Given the description of an element on the screen output the (x, y) to click on. 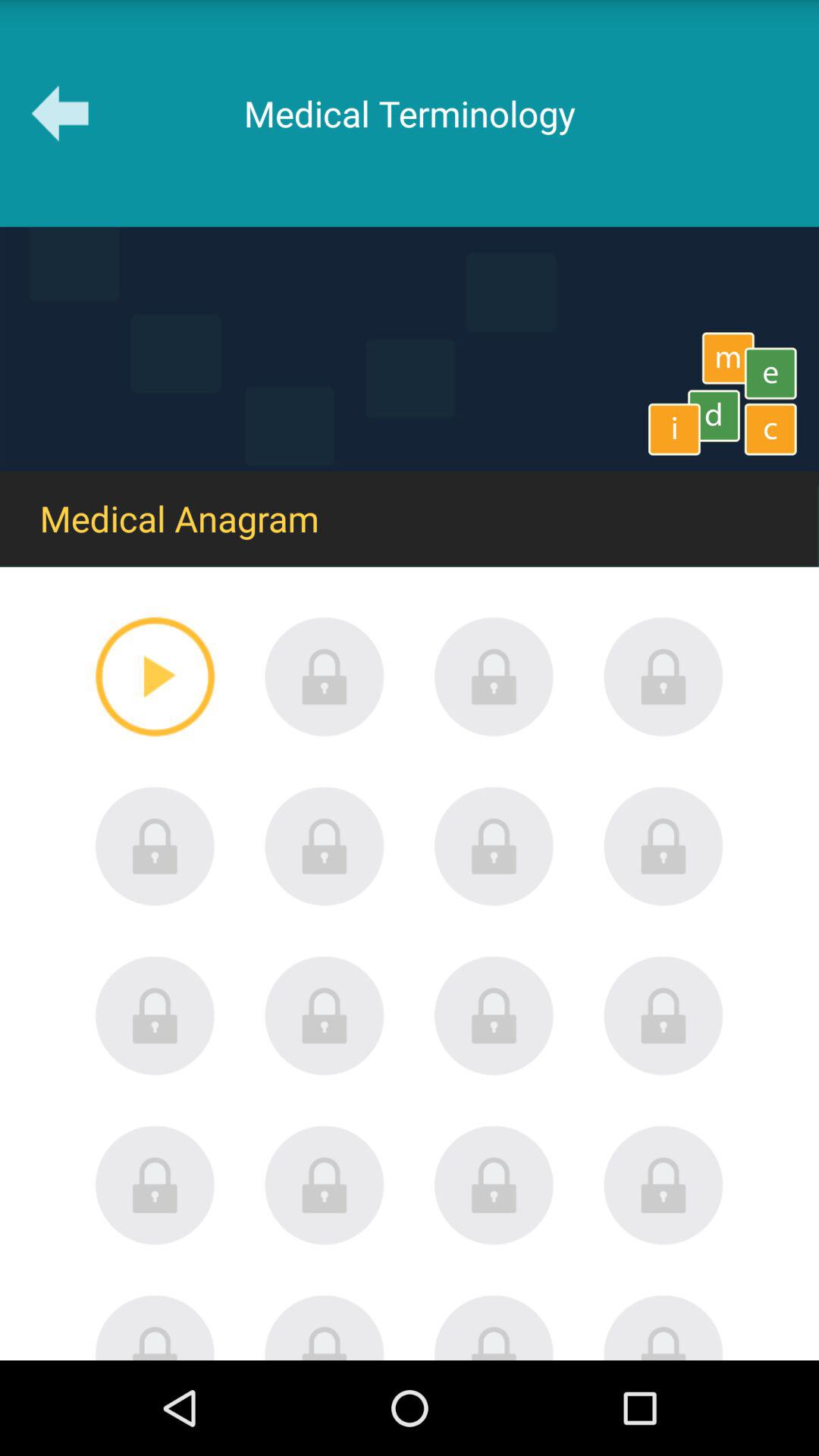
lock (324, 1184)
